Given the description of an element on the screen output the (x, y) to click on. 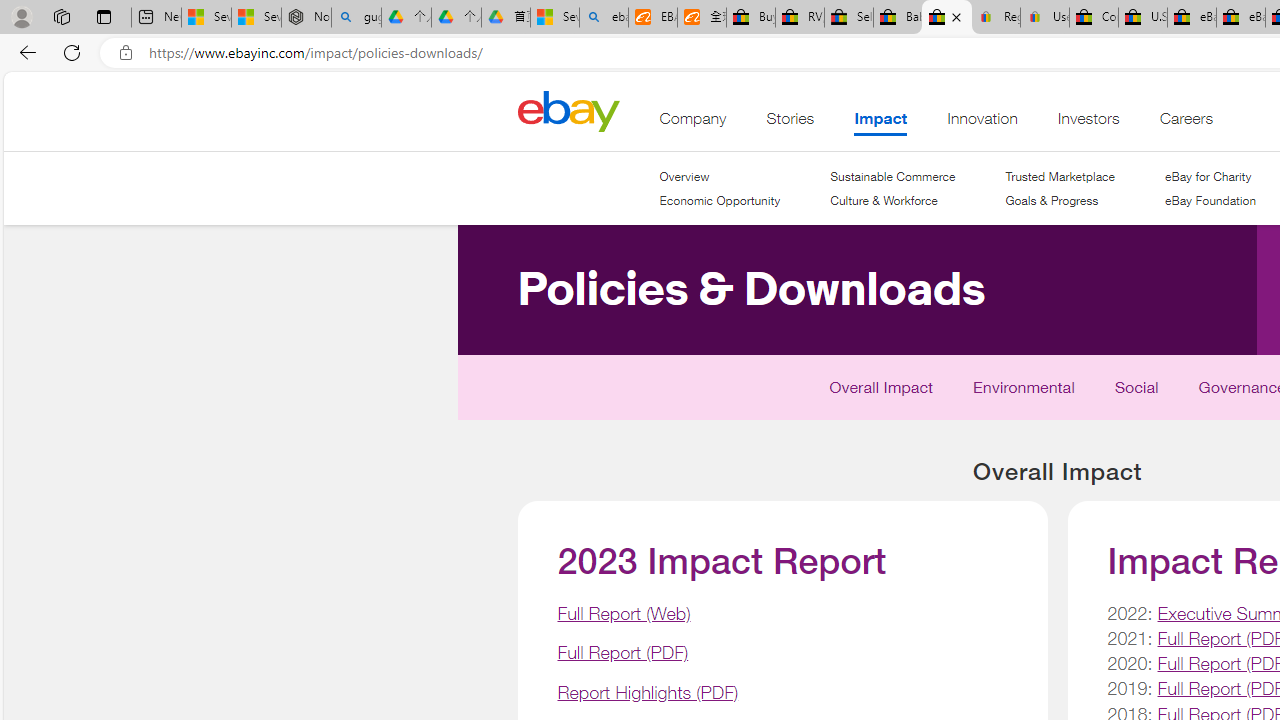
Trusted Marketplace (1059, 176)
Policies & Downloads - eBay Inc. (946, 17)
eBay Foundation (1209, 200)
